Given the description of an element on the screen output the (x, y) to click on. 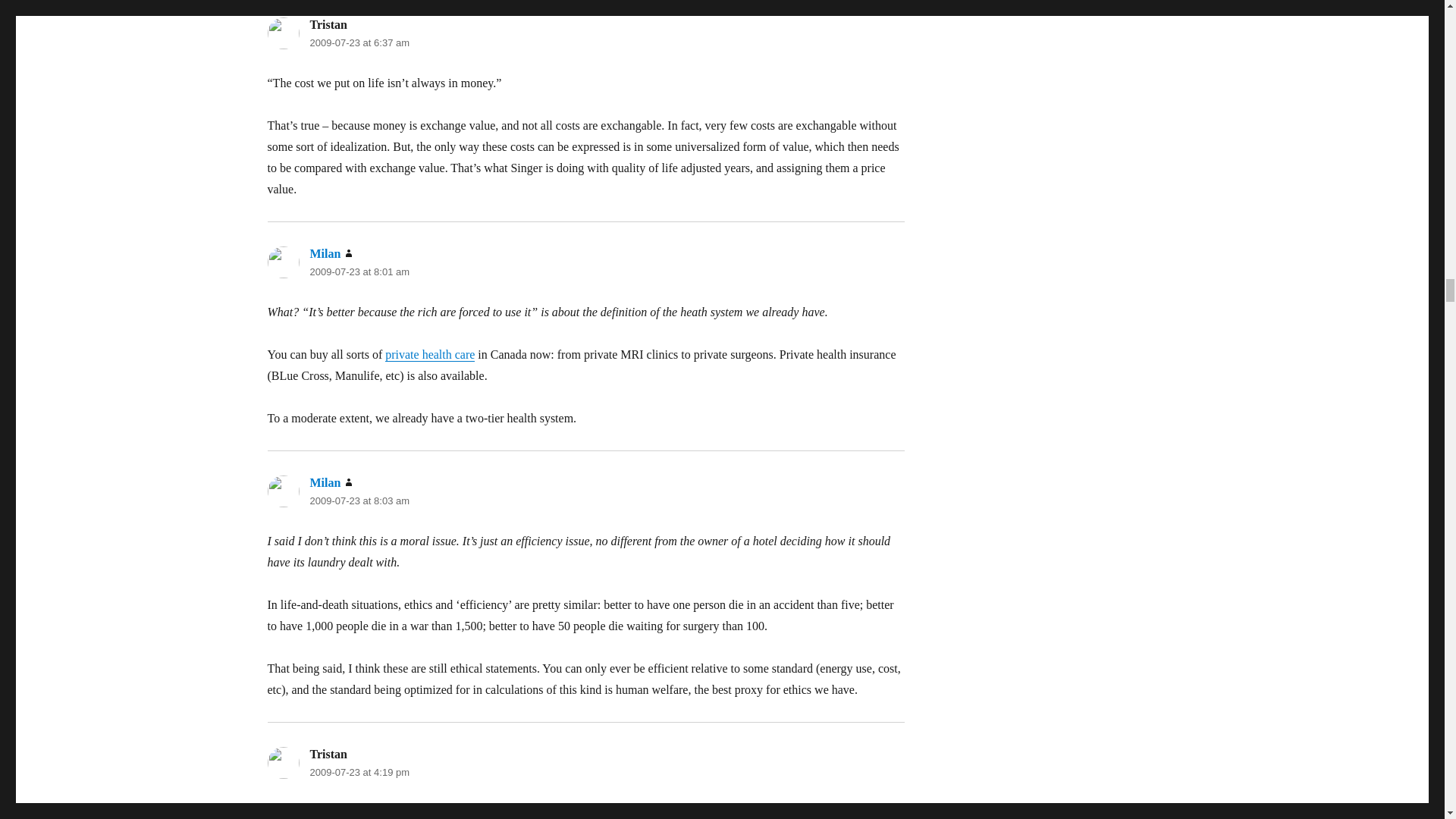
2009-07-23 at 8:01 am (358, 271)
Milan (324, 253)
2009-07-23 at 6:37 am (358, 42)
